Given the description of an element on the screen output the (x, y) to click on. 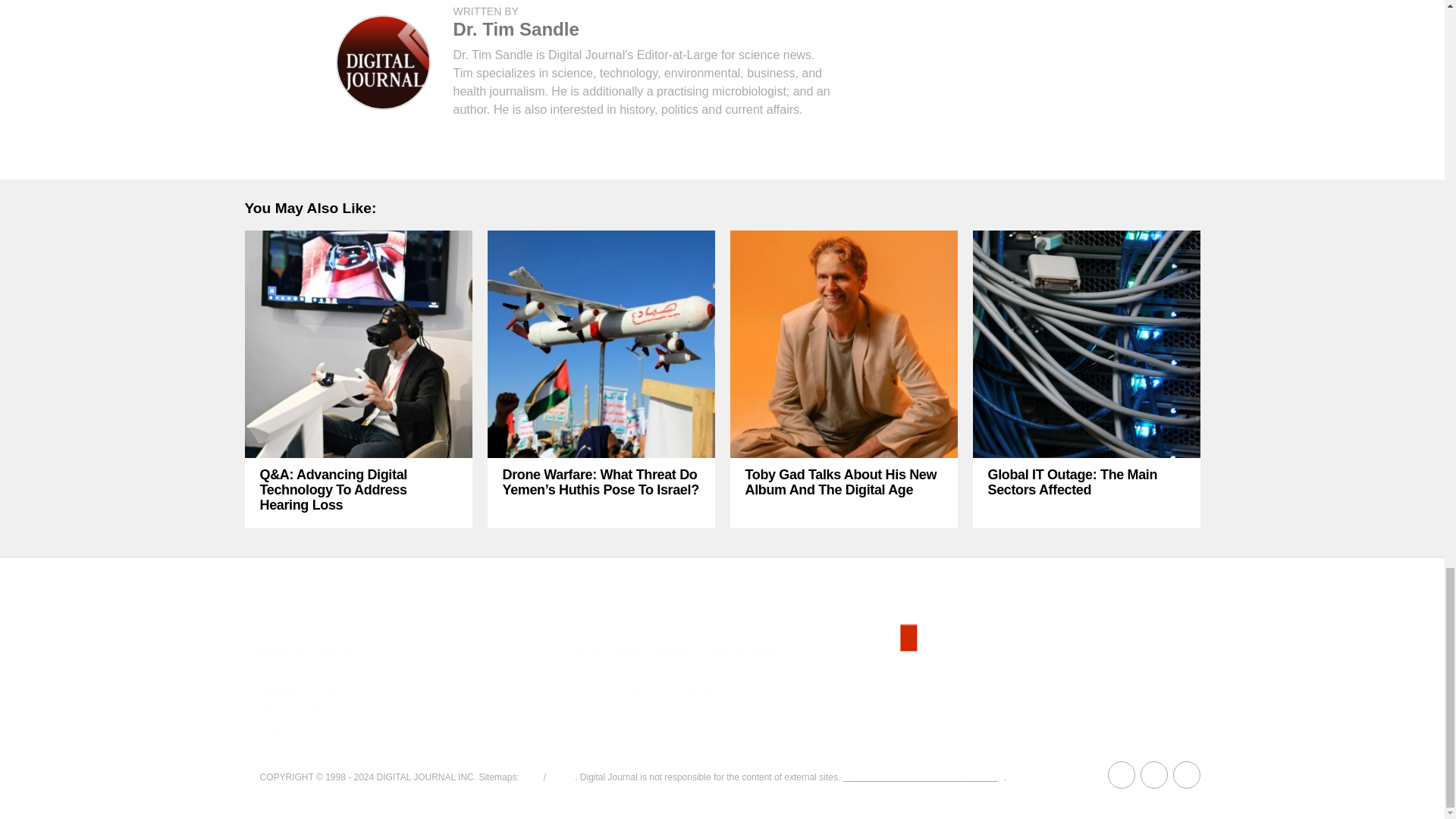
Posts by Dr. Tim Sandle (515, 28)
